Given the description of an element on the screen output the (x, y) to click on. 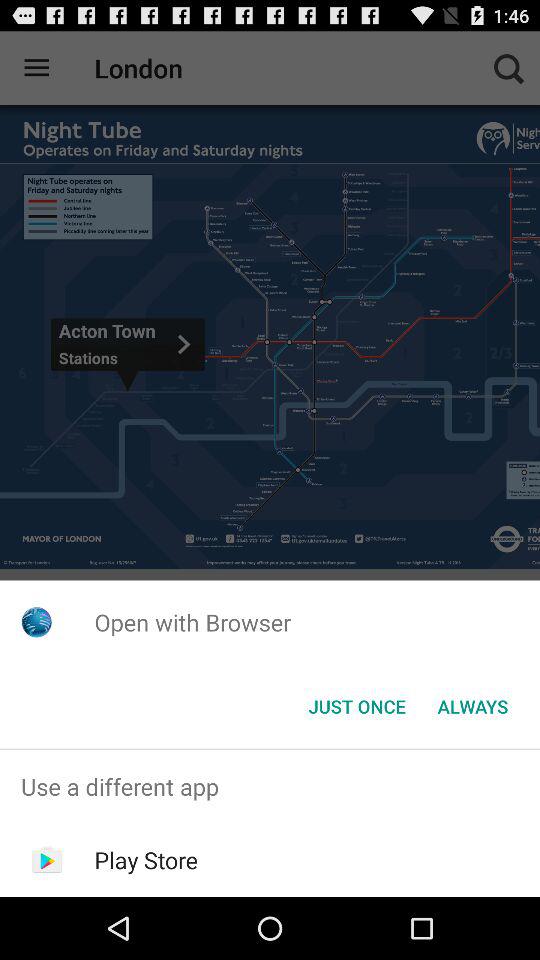
swipe until the use a different (270, 786)
